Given the description of an element on the screen output the (x, y) to click on. 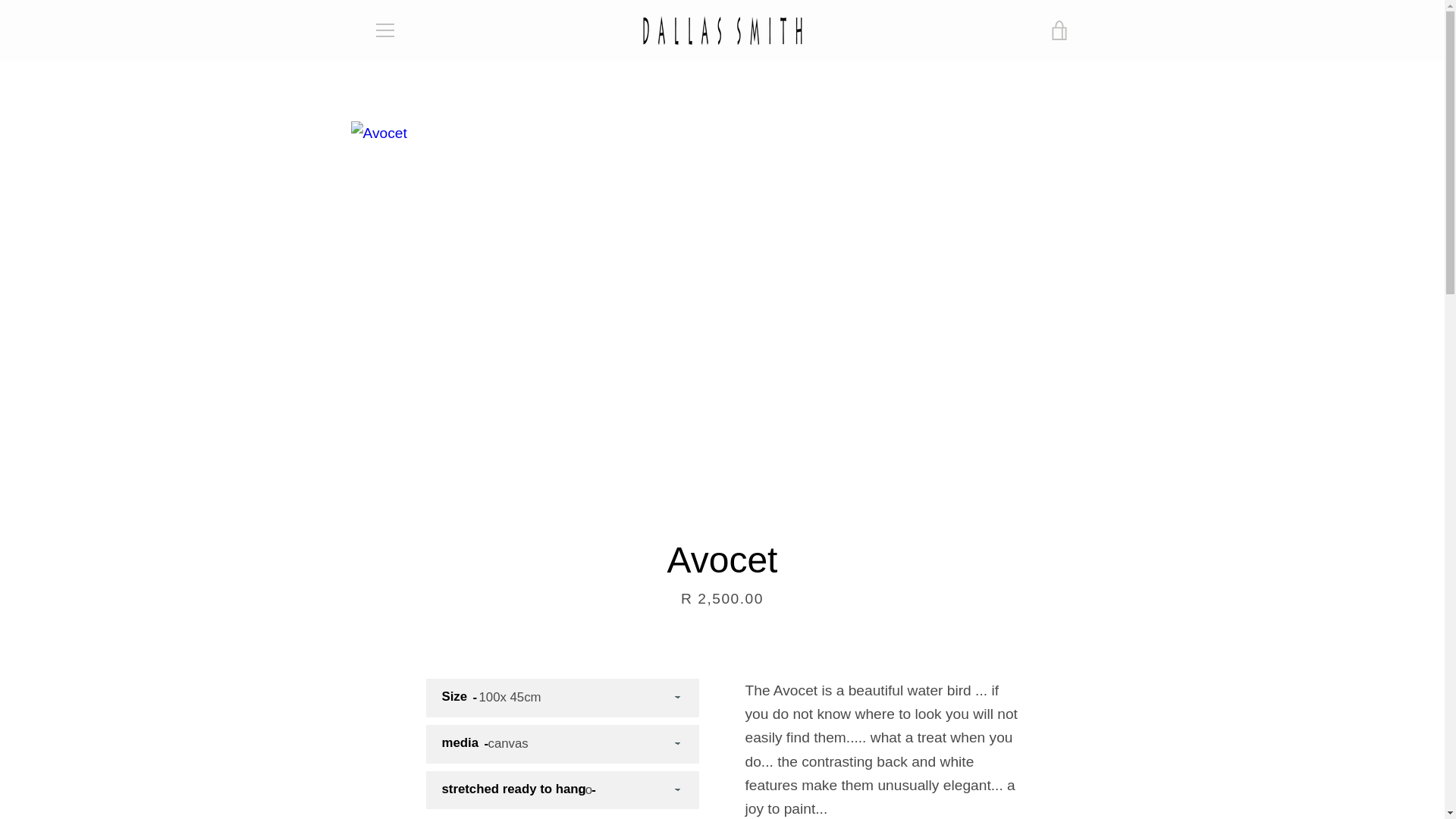
MENU (384, 30)
VIEW CART (1059, 30)
